Given the description of an element on the screen output the (x, y) to click on. 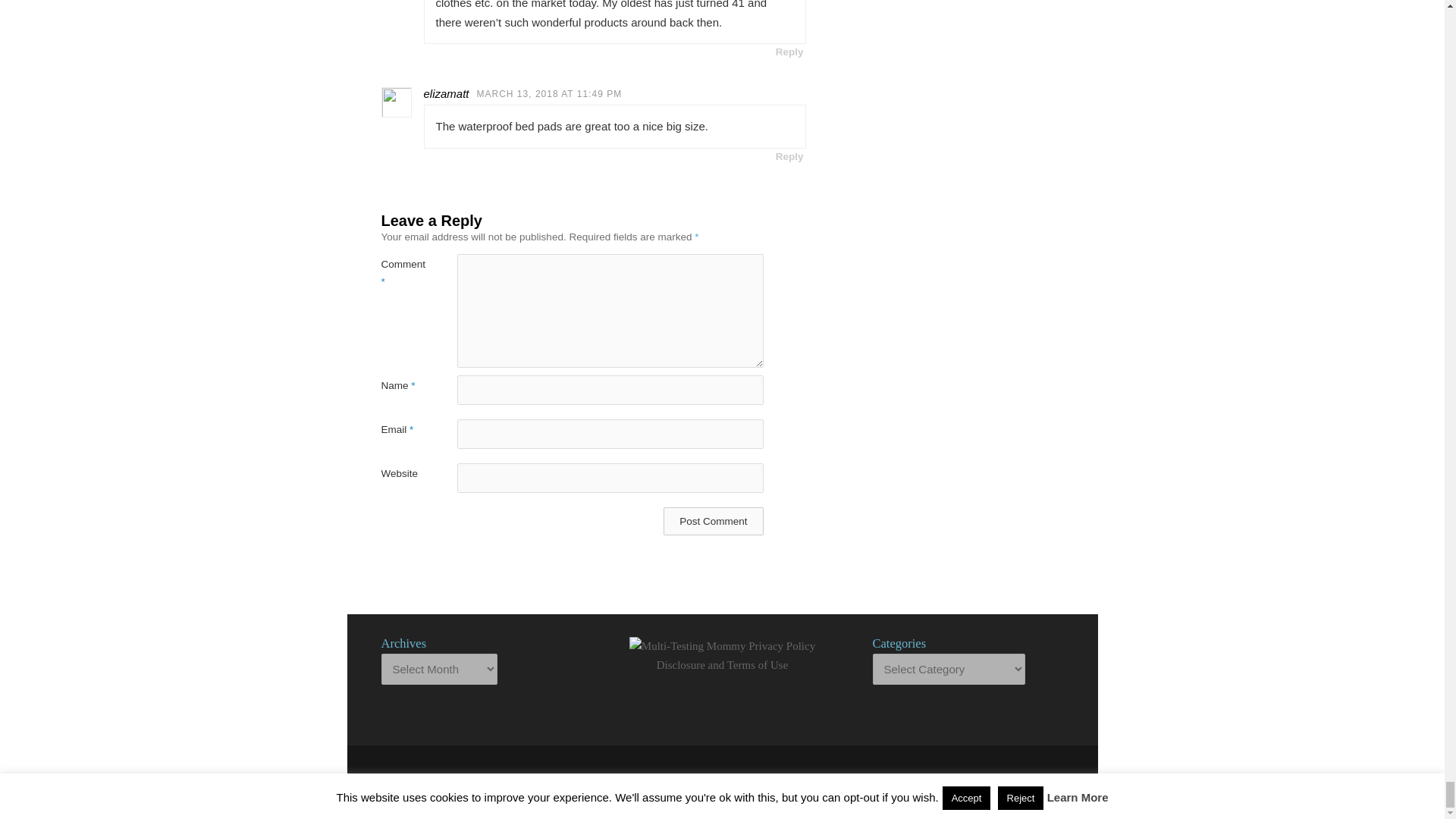
Post Comment (712, 520)
Semantic Personal Publishing Platform (824, 778)
Mantra Theme by Cryout Creations (770, 778)
Multi-Testing Mommy (640, 778)
